Given the description of an element on the screen output the (x, y) to click on. 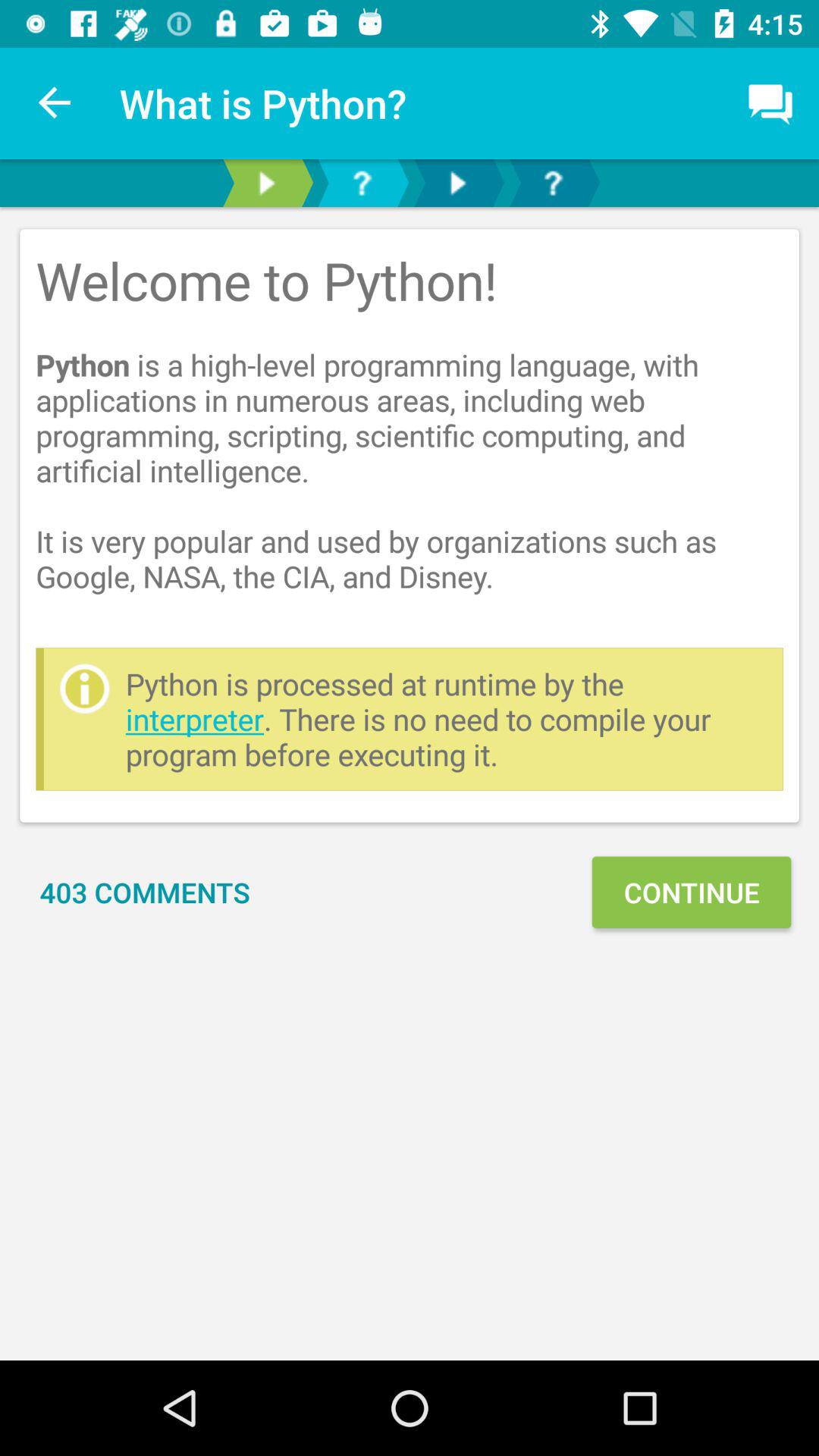
see for help (552, 183)
